Given the description of an element on the screen output the (x, y) to click on. 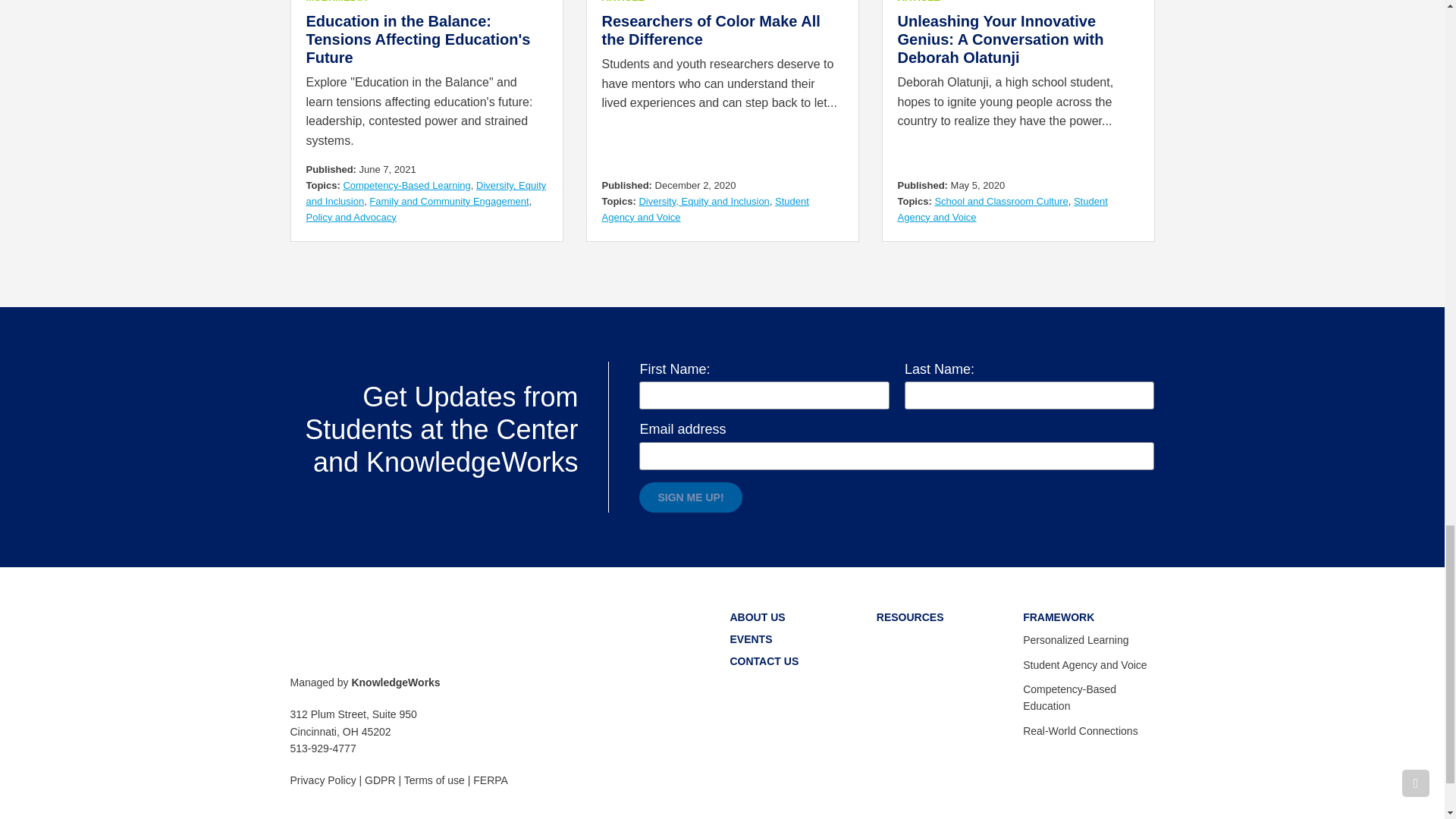
Why? So we can send you important insights and resources. (896, 456)
